Given the description of an element on the screen output the (x, y) to click on. 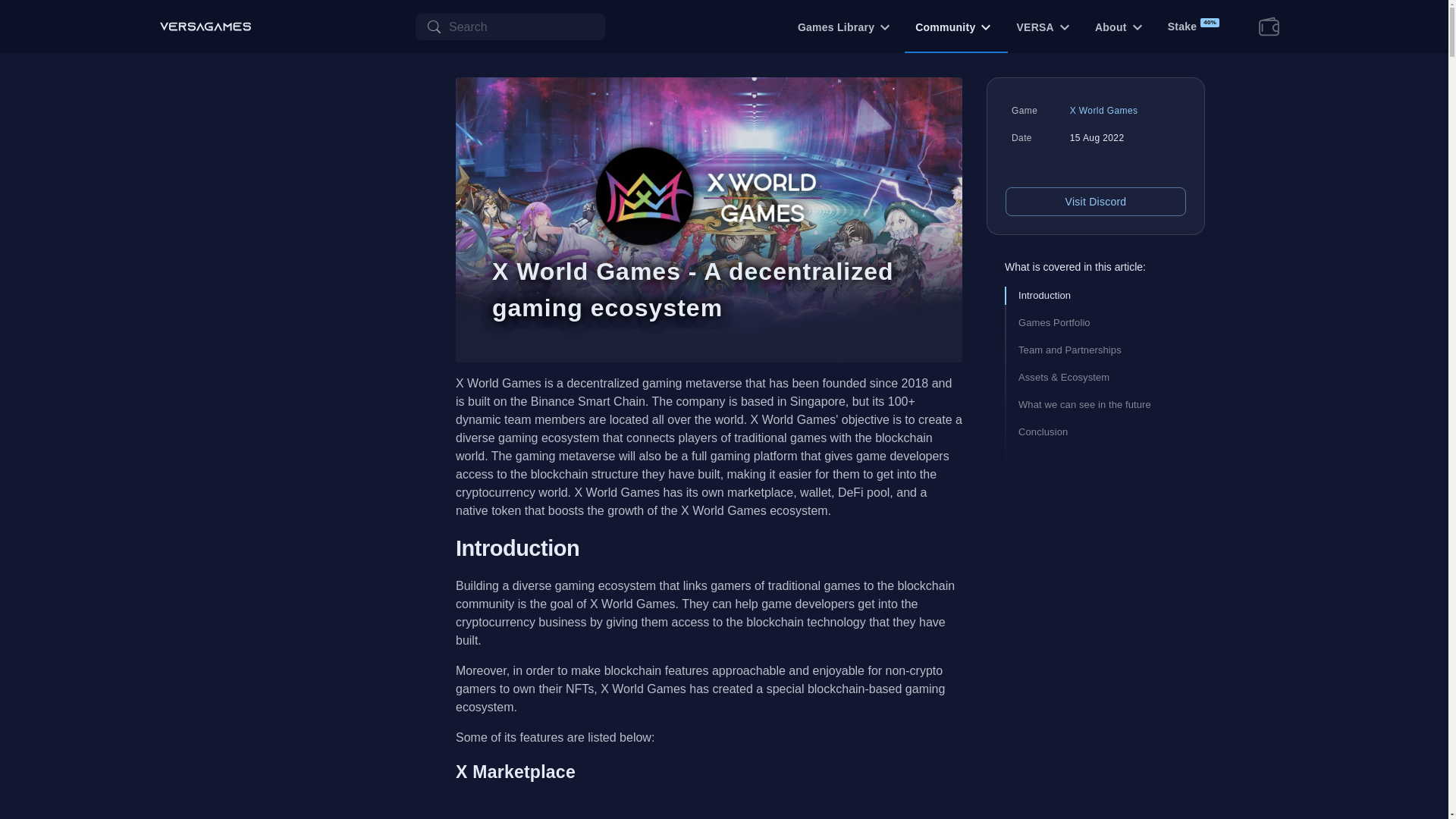
Games Library (844, 27)
VERSA (1042, 27)
Community (953, 27)
About (1119, 27)
